Given the description of an element on the screen output the (x, y) to click on. 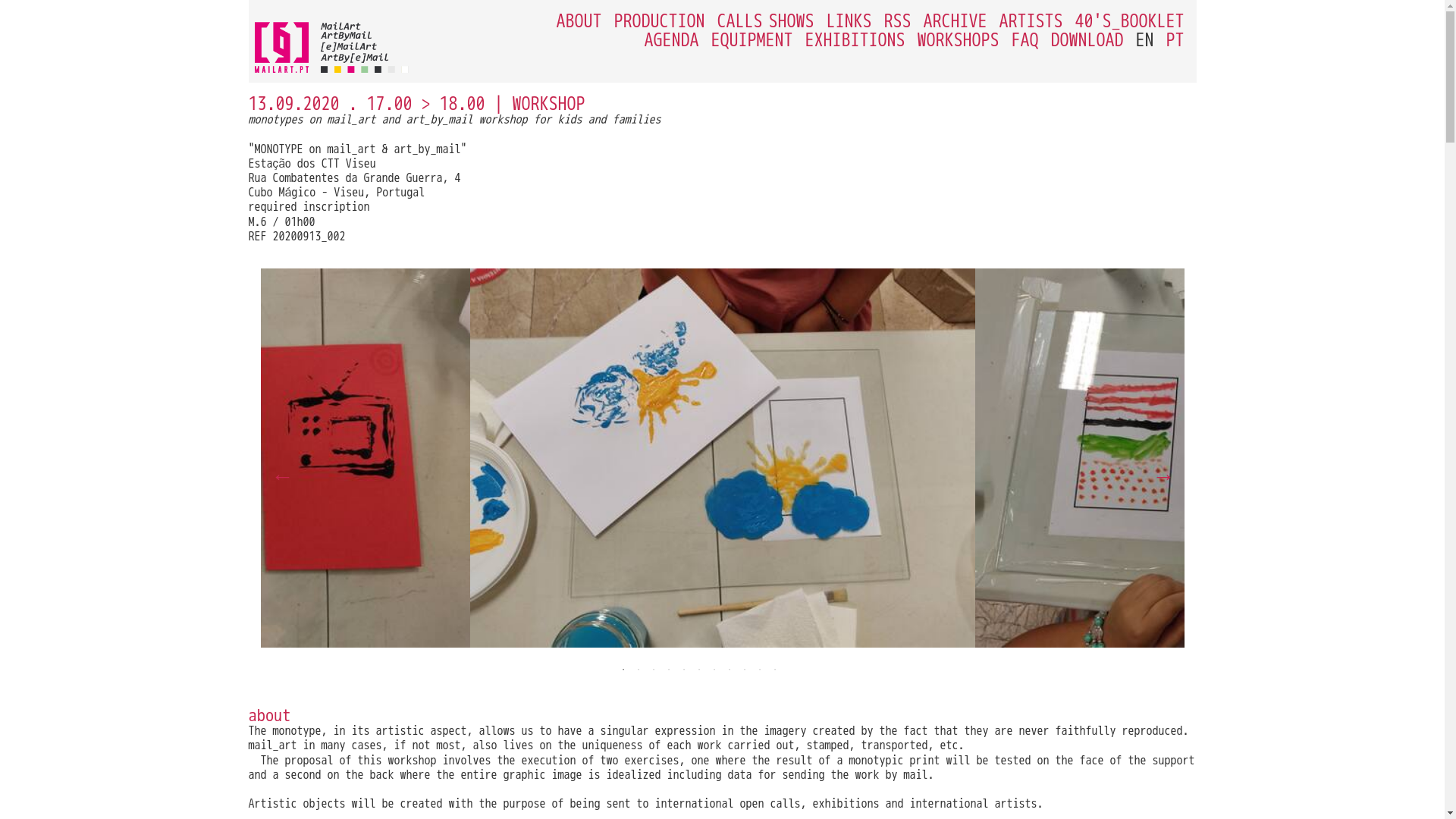
CALLS (739, 20)
RSS (897, 20)
LINKS (849, 20)
DOWNLOAD (1087, 39)
EXHIBITIONS (855, 39)
ARCHIVE (955, 20)
EQUIPMENT (752, 39)
SHOWS (790, 20)
WORKSHOPS (957, 39)
ABOUT (579, 20)
FAQ (1025, 39)
AGENDA (671, 39)
PRODUCTION (659, 20)
Previous (278, 472)
ARTISTS (1030, 20)
